Given the description of an element on the screen output the (x, y) to click on. 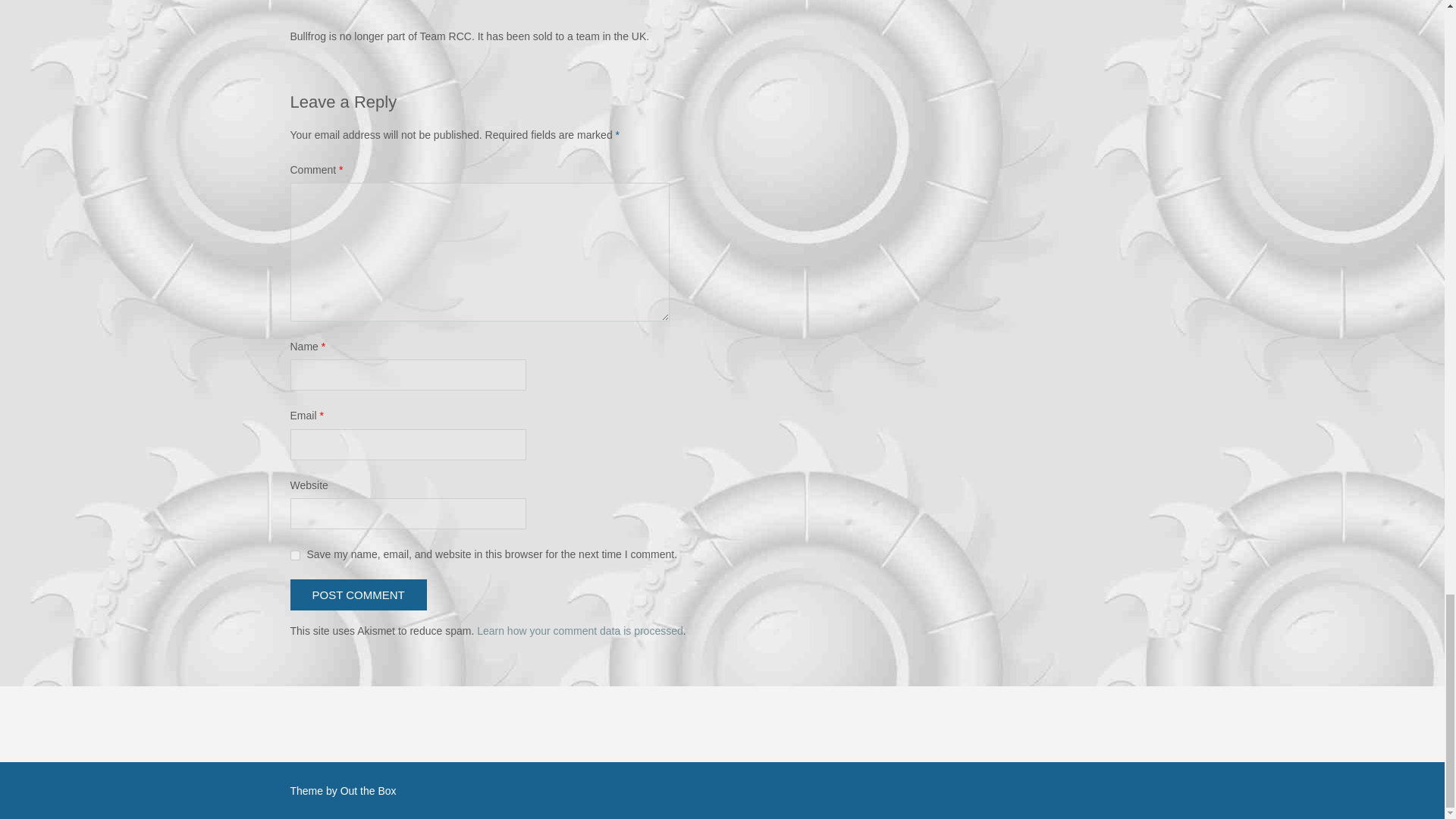
Out the Box (368, 790)
Post Comment (357, 594)
Post Comment (357, 594)
yes (294, 555)
Learn how your comment data is processed (579, 630)
